Given the description of an element on the screen output the (x, y) to click on. 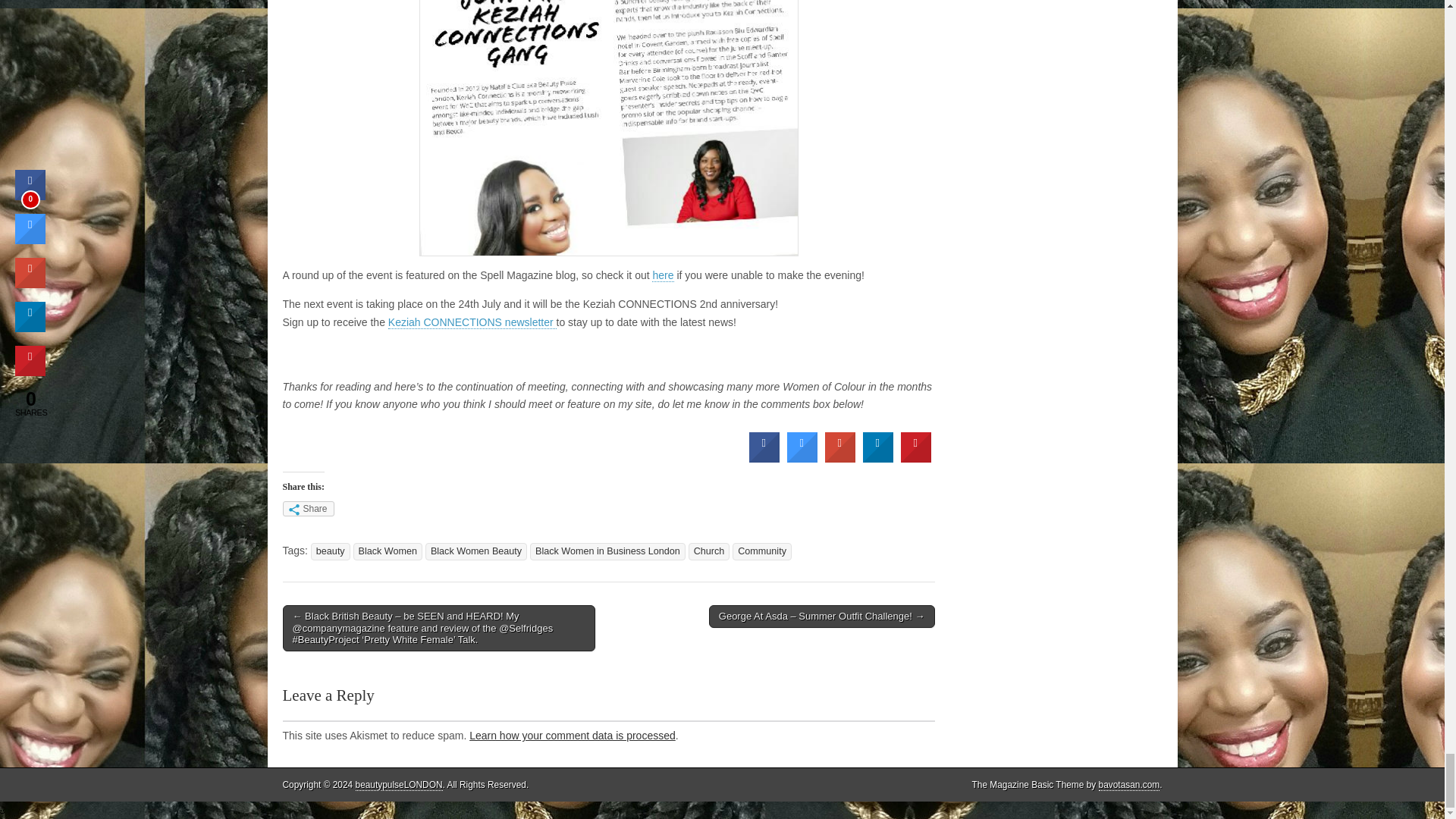
Share on Twitter (801, 458)
Share on Facebook (763, 458)
Share on Pinterest (916, 458)
Share to LinkedIn (878, 458)
Share on Google Plus (840, 458)
